Given the description of an element on the screen output the (x, y) to click on. 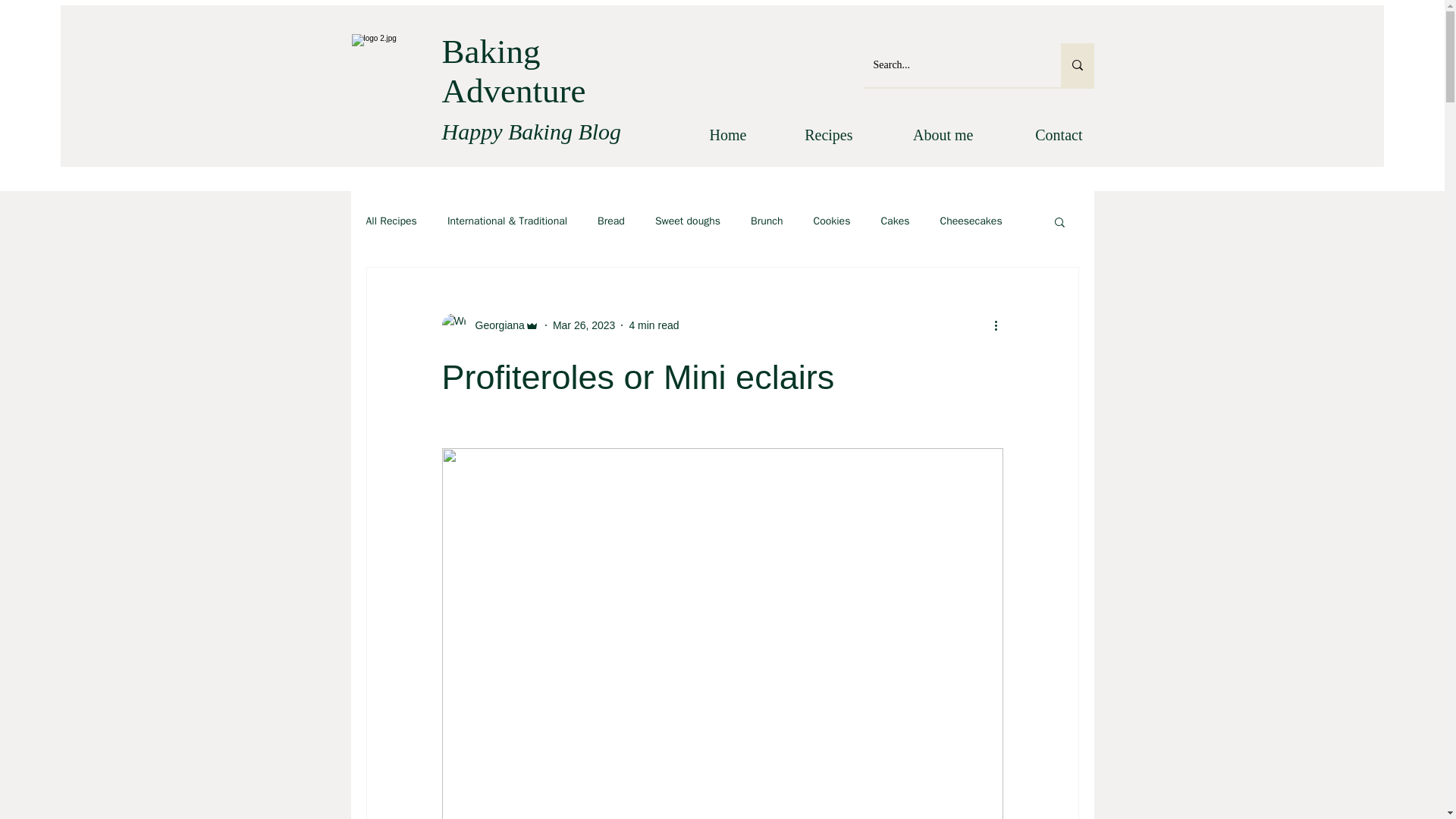
Cookies (831, 221)
Happy Baking Blog (531, 131)
About me (924, 134)
4 min read (653, 324)
Recipes (811, 134)
Contact (1038, 134)
Baking (490, 51)
Cakes (894, 221)
All Recipes (390, 221)
Brunch (767, 221)
Bread (610, 221)
Georgiana (494, 324)
Home (709, 134)
Sweet doughs (687, 221)
logo 2.jpg (394, 73)
